Given the description of an element on the screen output the (x, y) to click on. 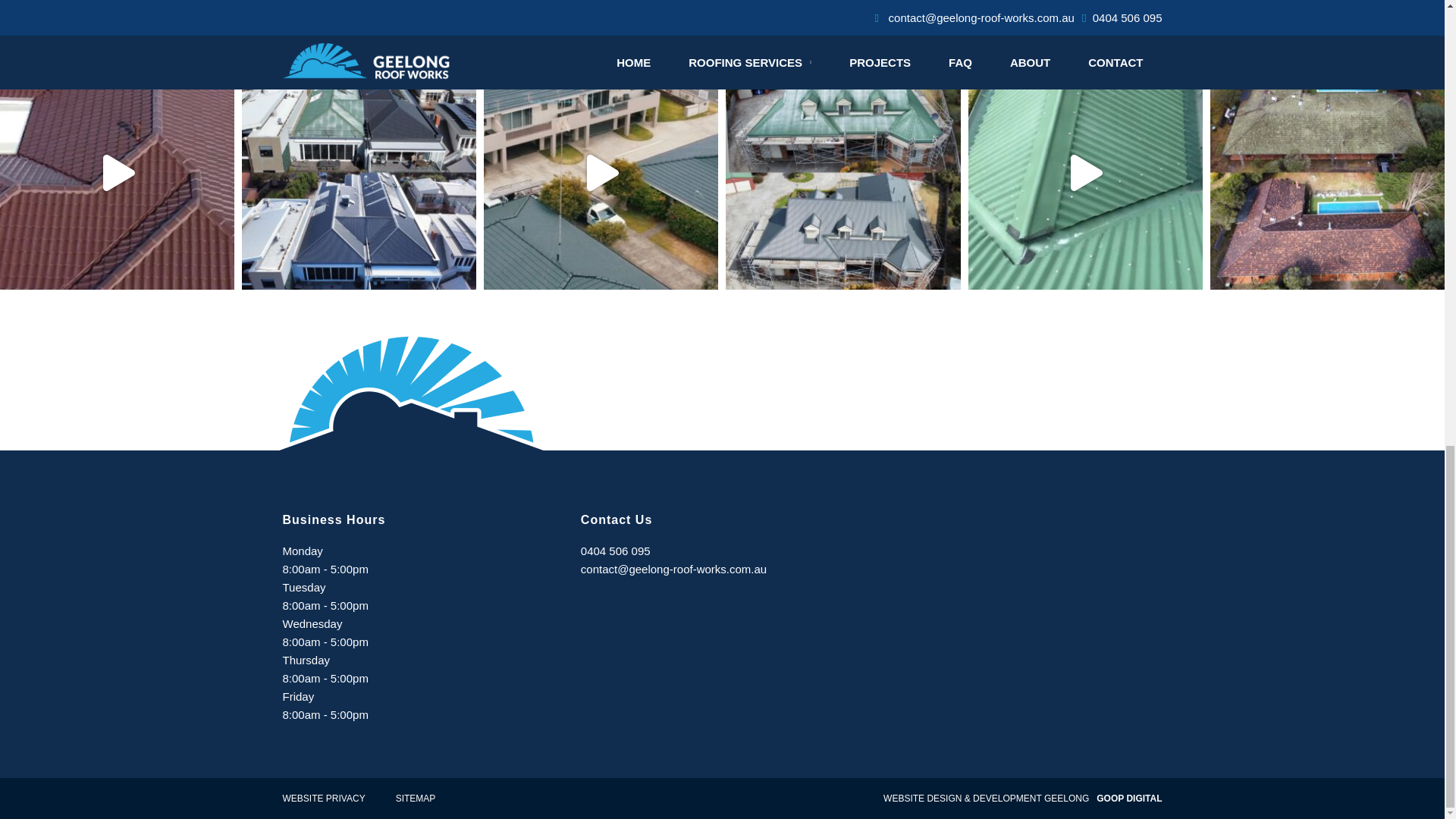
Follow Us (721, 19)
SITEMAP (415, 798)
WEBSITE PRIVACY (323, 798)
